Given the description of an element on the screen output the (x, y) to click on. 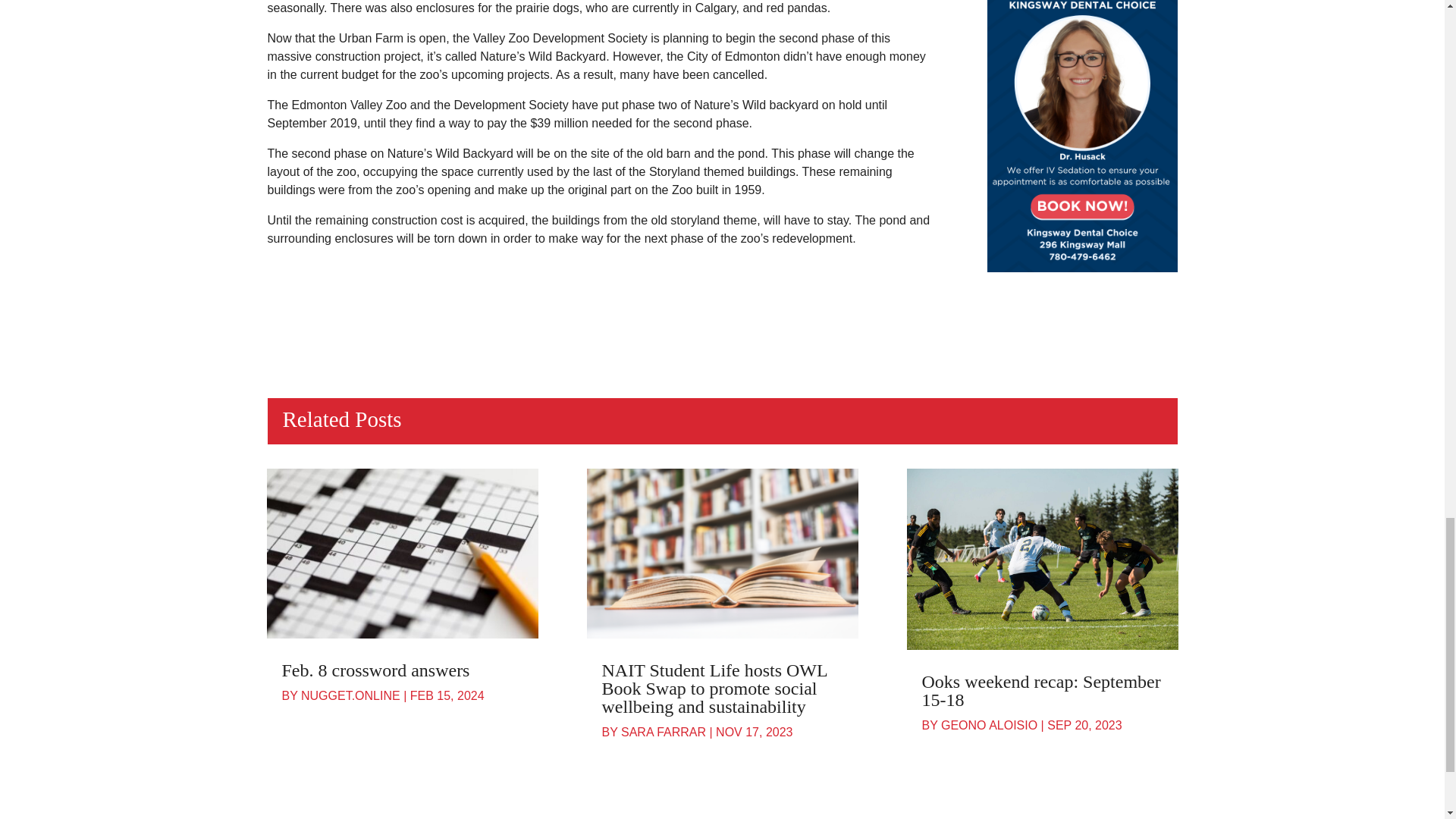
Posts by Geono Aloisio (988, 725)
Posts by nugget.online (350, 695)
Posts by Sara Farrar (663, 731)
